Given the description of an element on the screen output the (x, y) to click on. 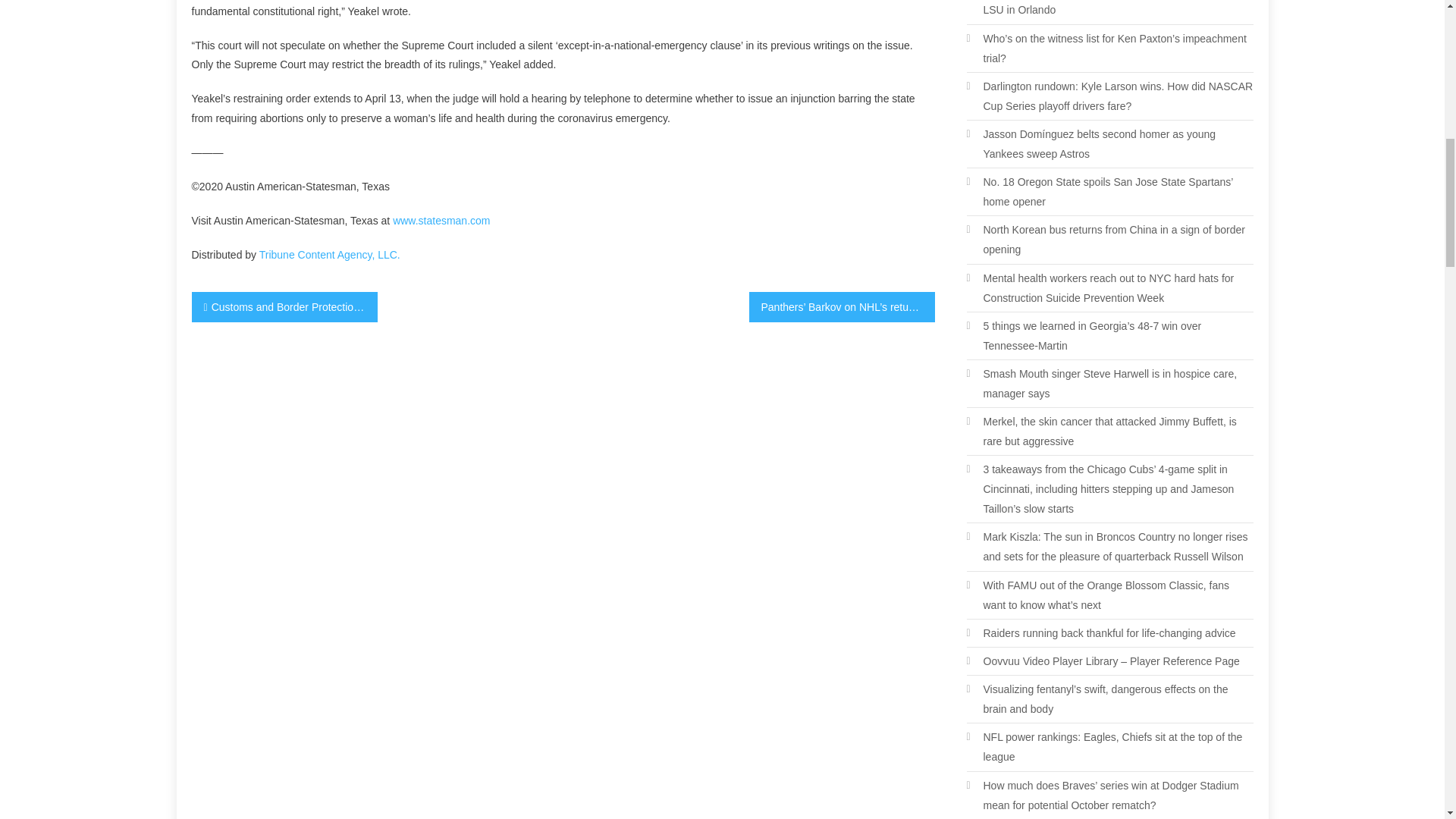
Tribune Content Agency, LLC. (329, 254)
www.statesman.com (441, 220)
